Given the description of an element on the screen output the (x, y) to click on. 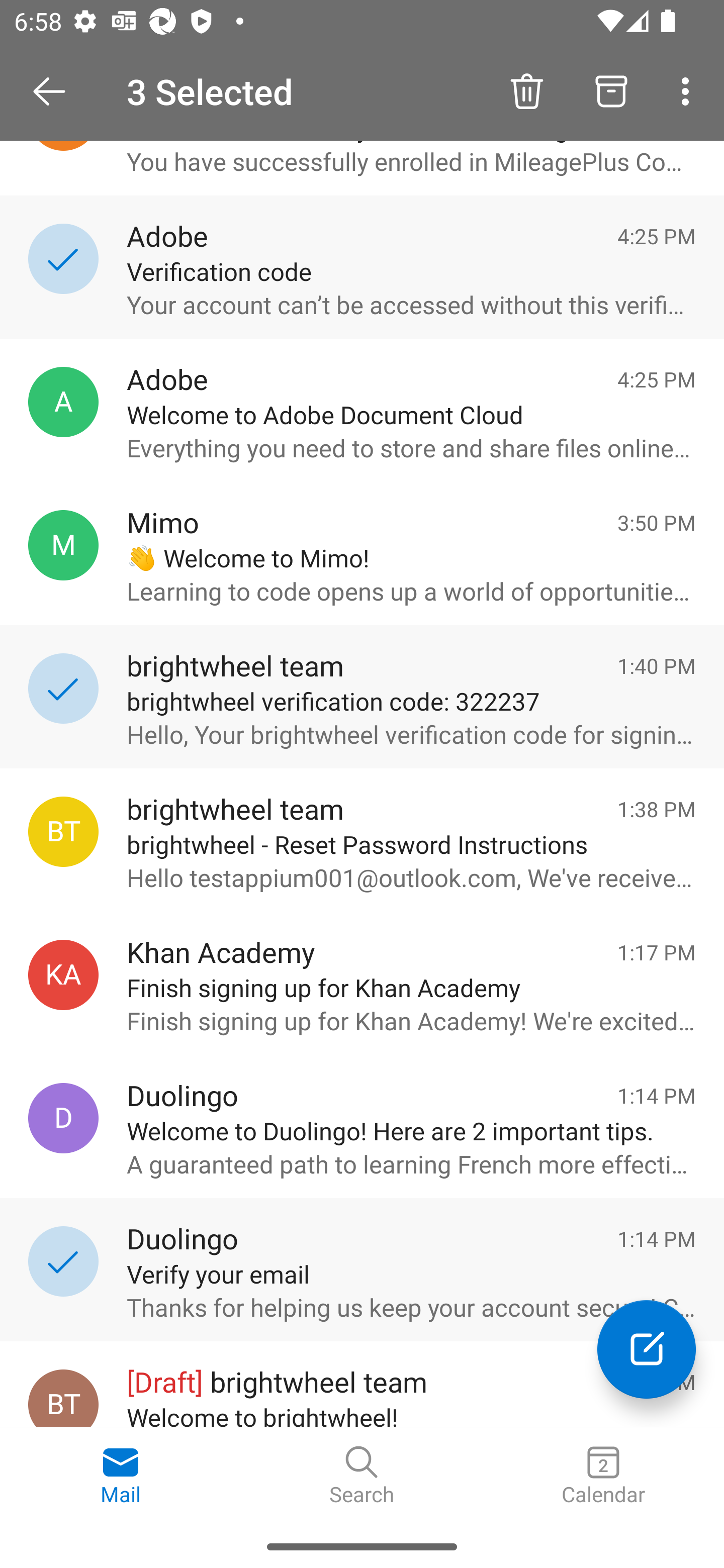
Delete (526, 90)
Archive (611, 90)
More options (688, 90)
Open Navigation Drawer (55, 91)
Adobe, message@adobe.com (63, 401)
Mimo, support@getmimo.com (63, 544)
brightwheel team, recovery@mybrightwheel.com (63, 831)
Khan Academy, no-reply@khanacademy.org (63, 974)
Duolingo, hello@duolingo.com (63, 1118)
Compose (646, 1348)
brightwheel team, welcome@mybrightwheel.com (63, 1397)
Search (361, 1475)
Calendar (603, 1475)
